Given the description of an element on the screen output the (x, y) to click on. 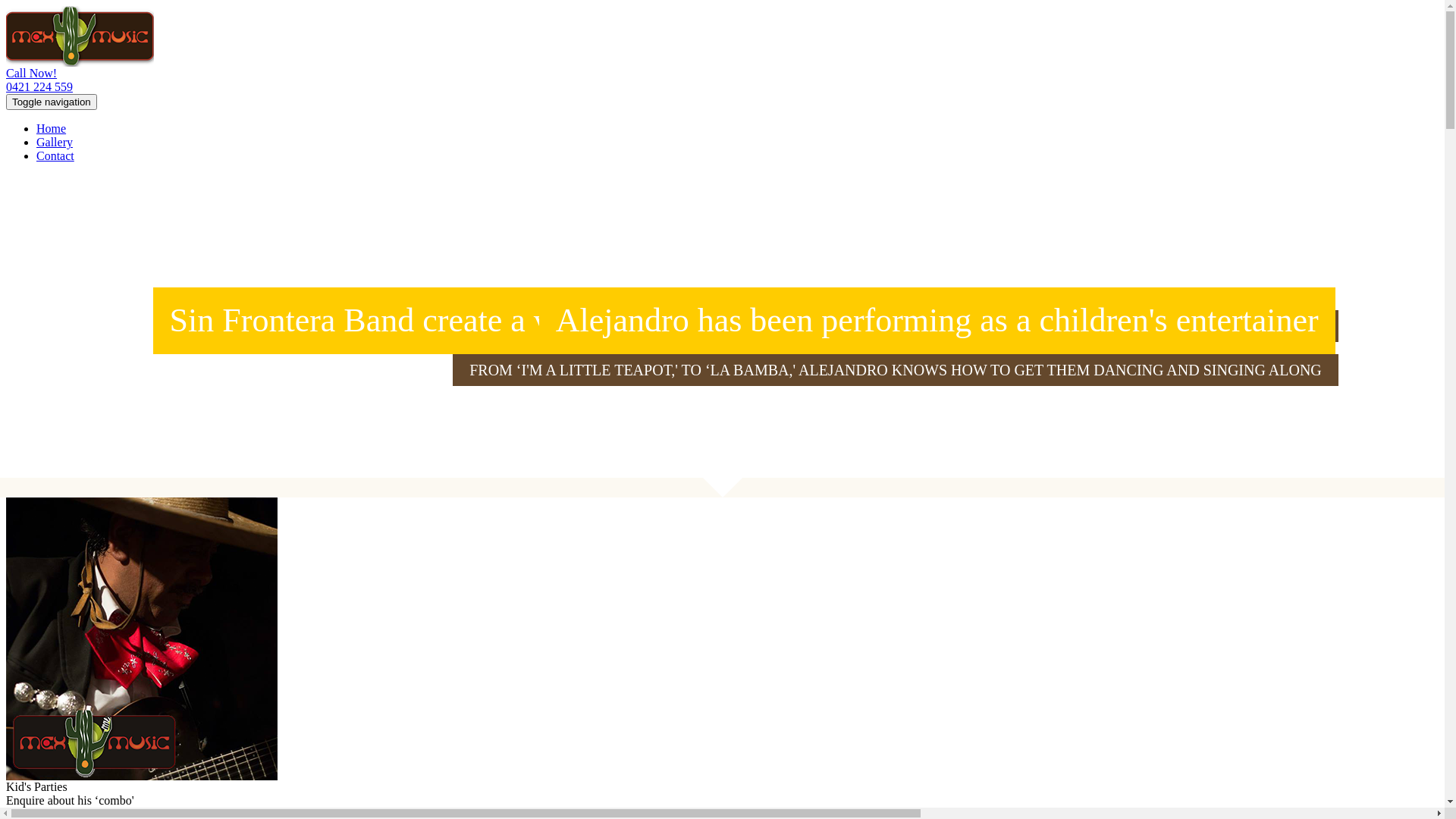
Contact Element type: text (55, 155)
Toggle navigation Element type: text (51, 101)
Call Now!
0421 224 559 Element type: text (722, 80)
Home Element type: text (50, 128)
Gallery Element type: text (54, 141)
